Given the description of an element on the screen output the (x, y) to click on. 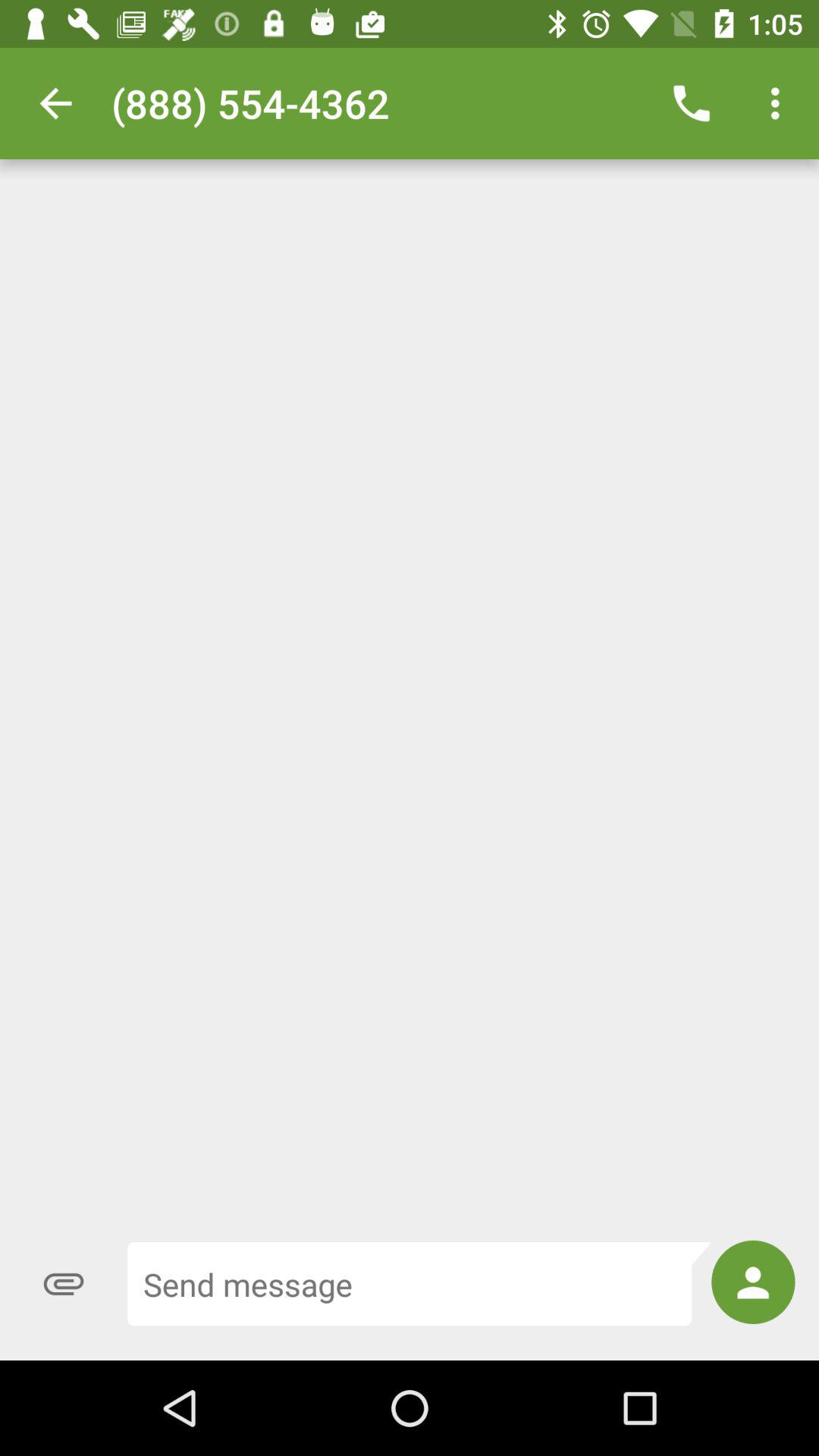
click icon next to the (888) 554-4362 item (55, 103)
